Given the description of an element on the screen output the (x, y) to click on. 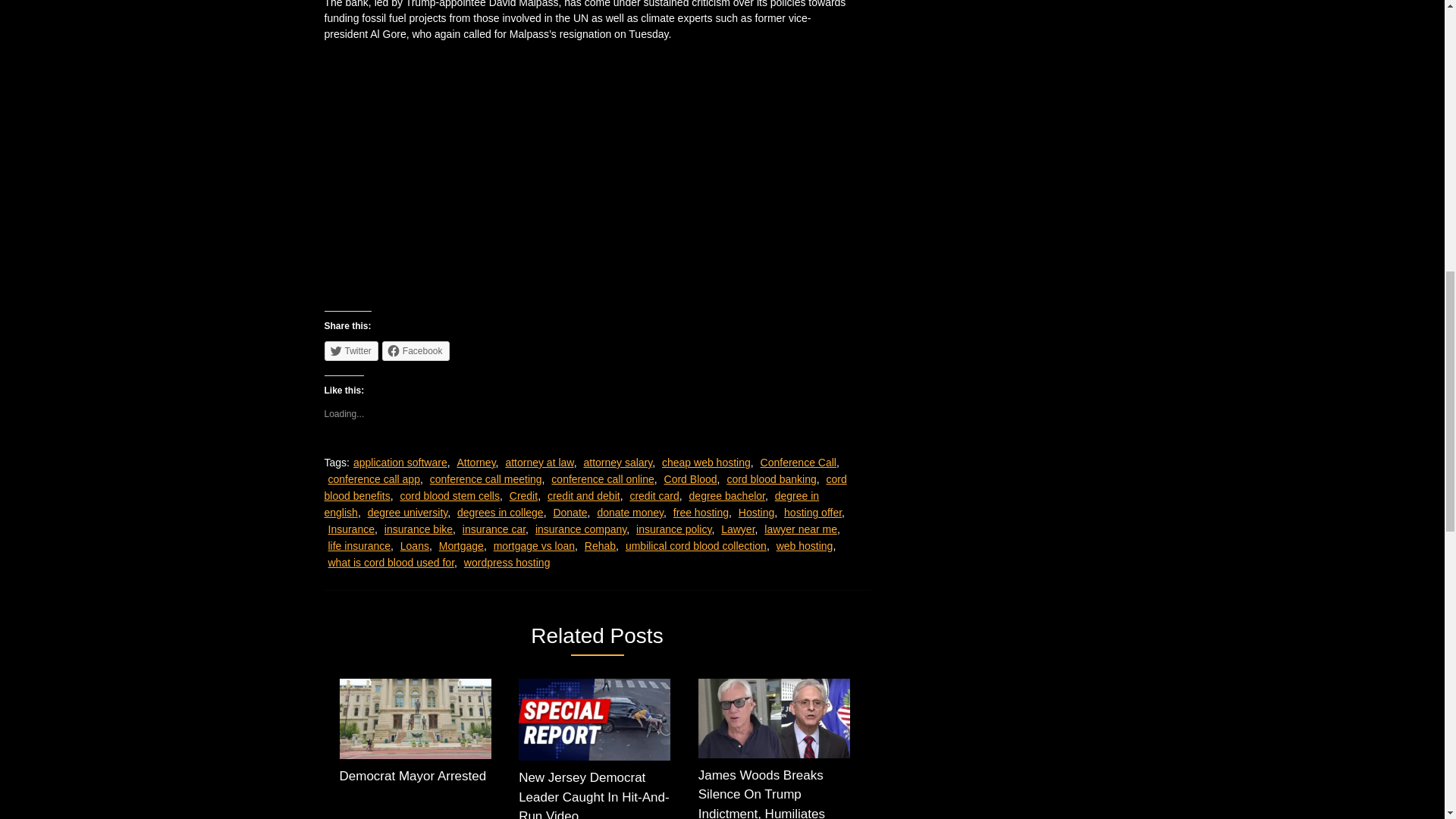
Attorney (476, 462)
cord blood benefits (585, 487)
attorney at law (539, 462)
Twitter Tweet (437, 114)
New Jersey Democrat Leader Caught In Hit-And-Run Video (593, 748)
donate money (629, 512)
Cord Blood (690, 479)
degree university (408, 512)
degree in english (571, 503)
Democrat Mayor Arrested (415, 735)
Donate (569, 512)
Click to share on Facebook (415, 351)
Click to share on Twitter (351, 351)
credit card (653, 495)
